Given the description of an element on the screen output the (x, y) to click on. 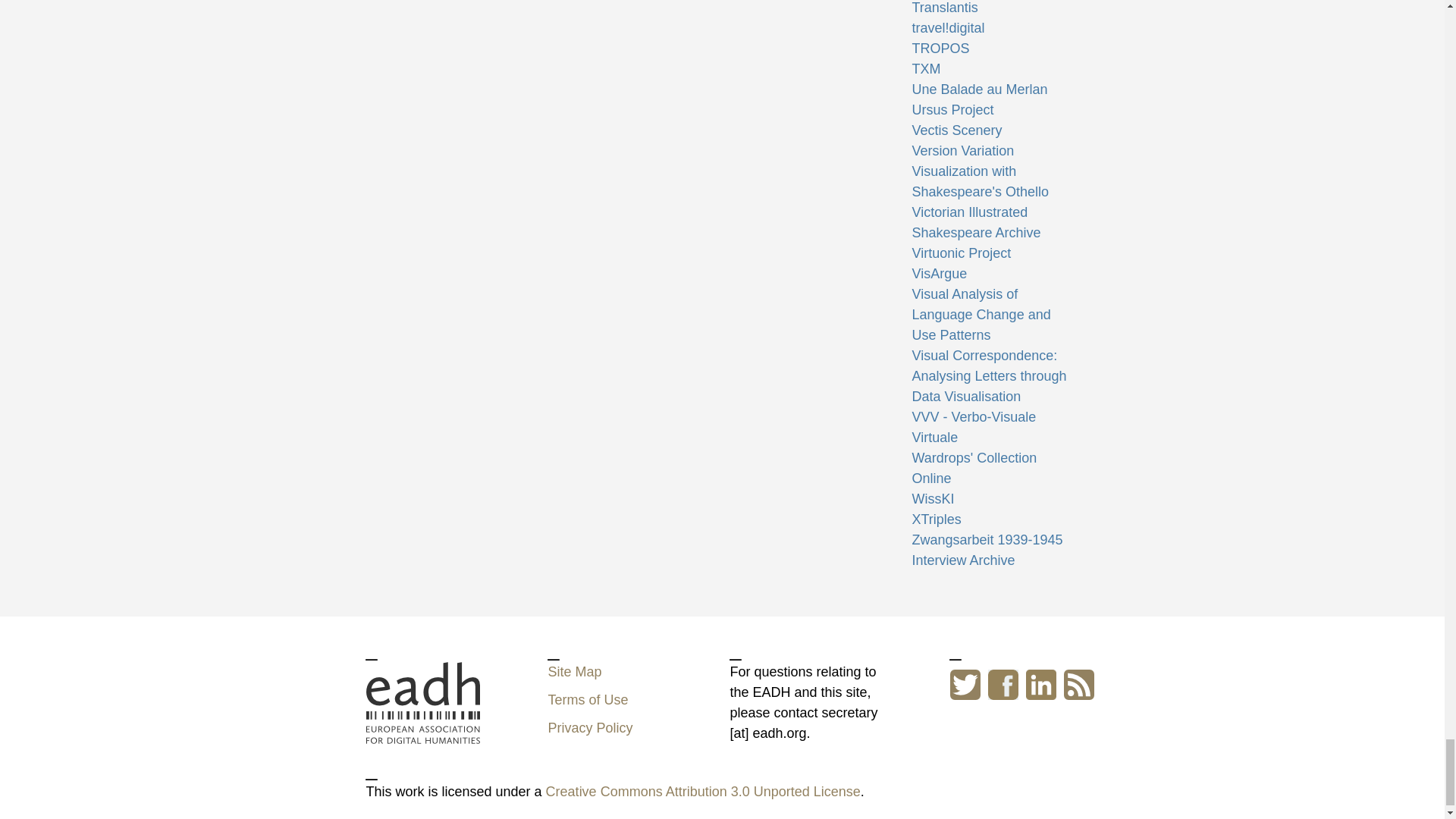
EADH - European Association for Digital Humanities (422, 702)
EADH - European Association for Digital Humanities (422, 733)
